Given the description of an element on the screen output the (x, y) to click on. 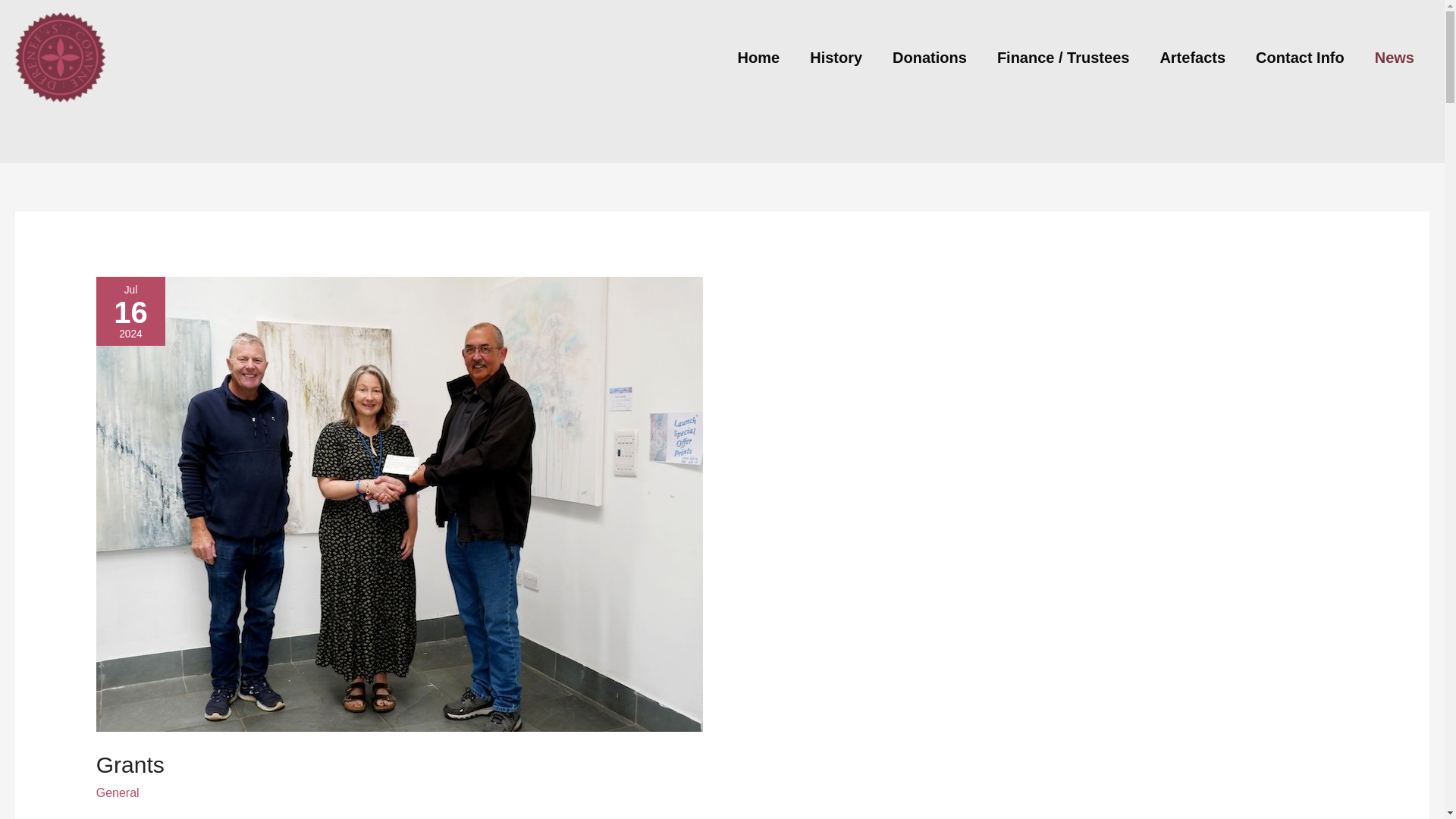
General (117, 792)
History (835, 57)
Grants (130, 764)
Donations (929, 57)
News (1394, 57)
Artefacts (1192, 57)
Contact Info (1299, 57)
Home (758, 57)
